Given the description of an element on the screen output the (x, y) to click on. 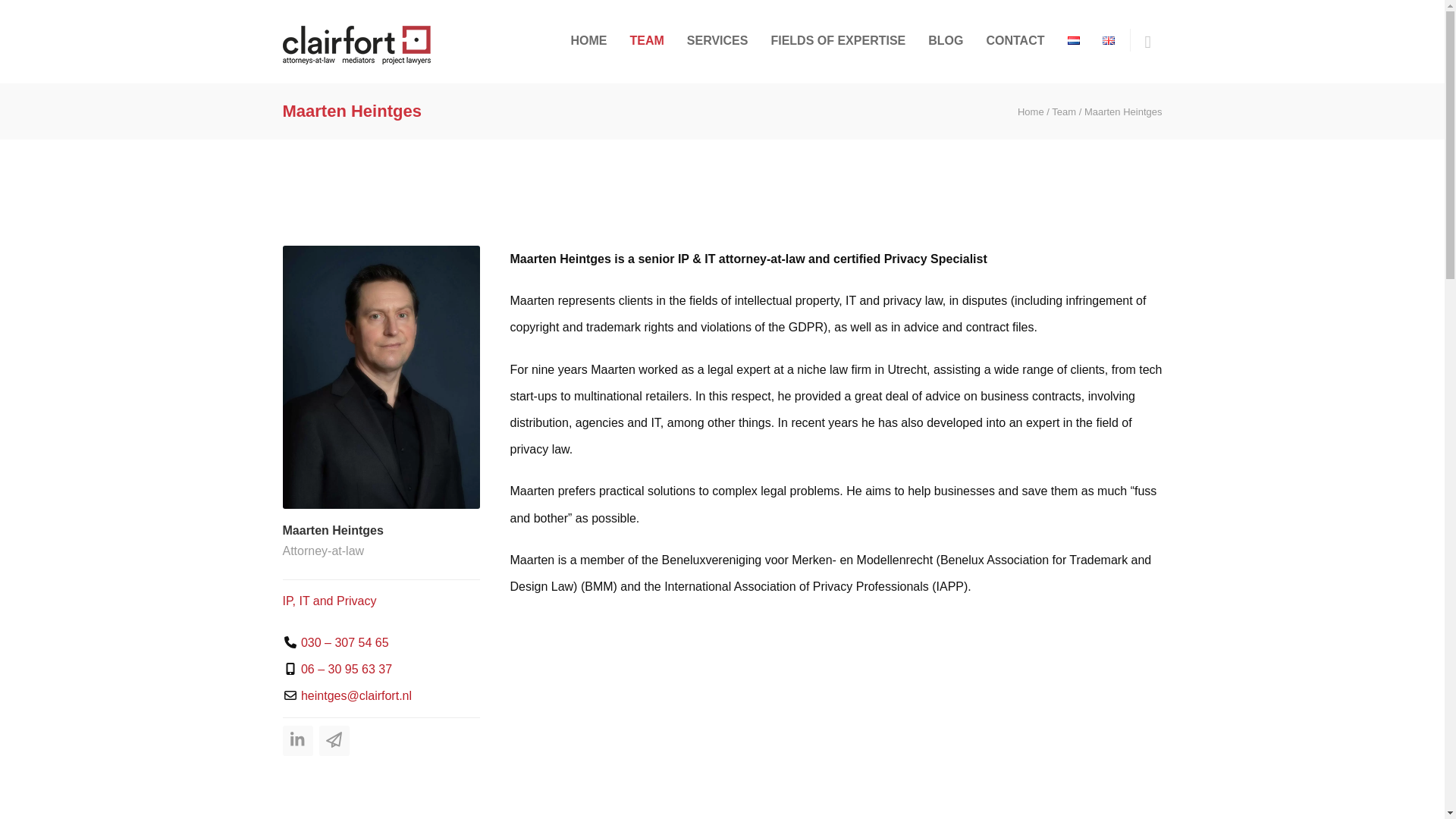
CONTACT (1014, 40)
BLOG (945, 40)
FIELDS OF EXPERTISE (837, 40)
LinkedIn (297, 740)
TEAM (646, 40)
Team (1063, 111)
Mail (333, 740)
SERVICES (717, 40)
IP, IT and Privacy (328, 600)
HOME (588, 40)
